Given the description of an element on the screen output the (x, y) to click on. 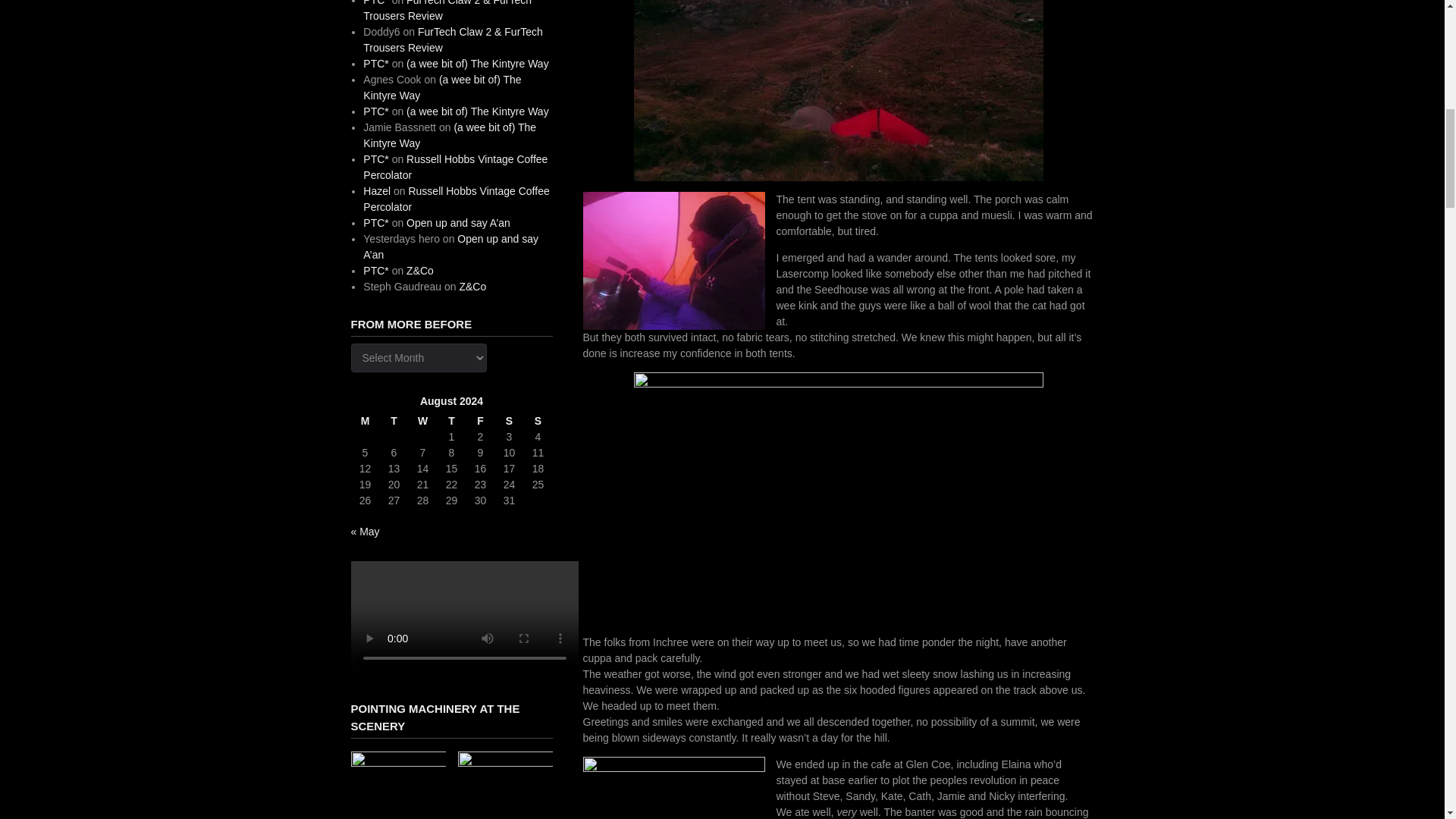
Smug Bastard (673, 787)
Tuesday (392, 421)
Wednesday (421, 421)
Monday (364, 421)
Friday (480, 421)
Thursday (450, 421)
Saturday (508, 421)
Sunday (536, 421)
